Given the description of an element on the screen output the (x, y) to click on. 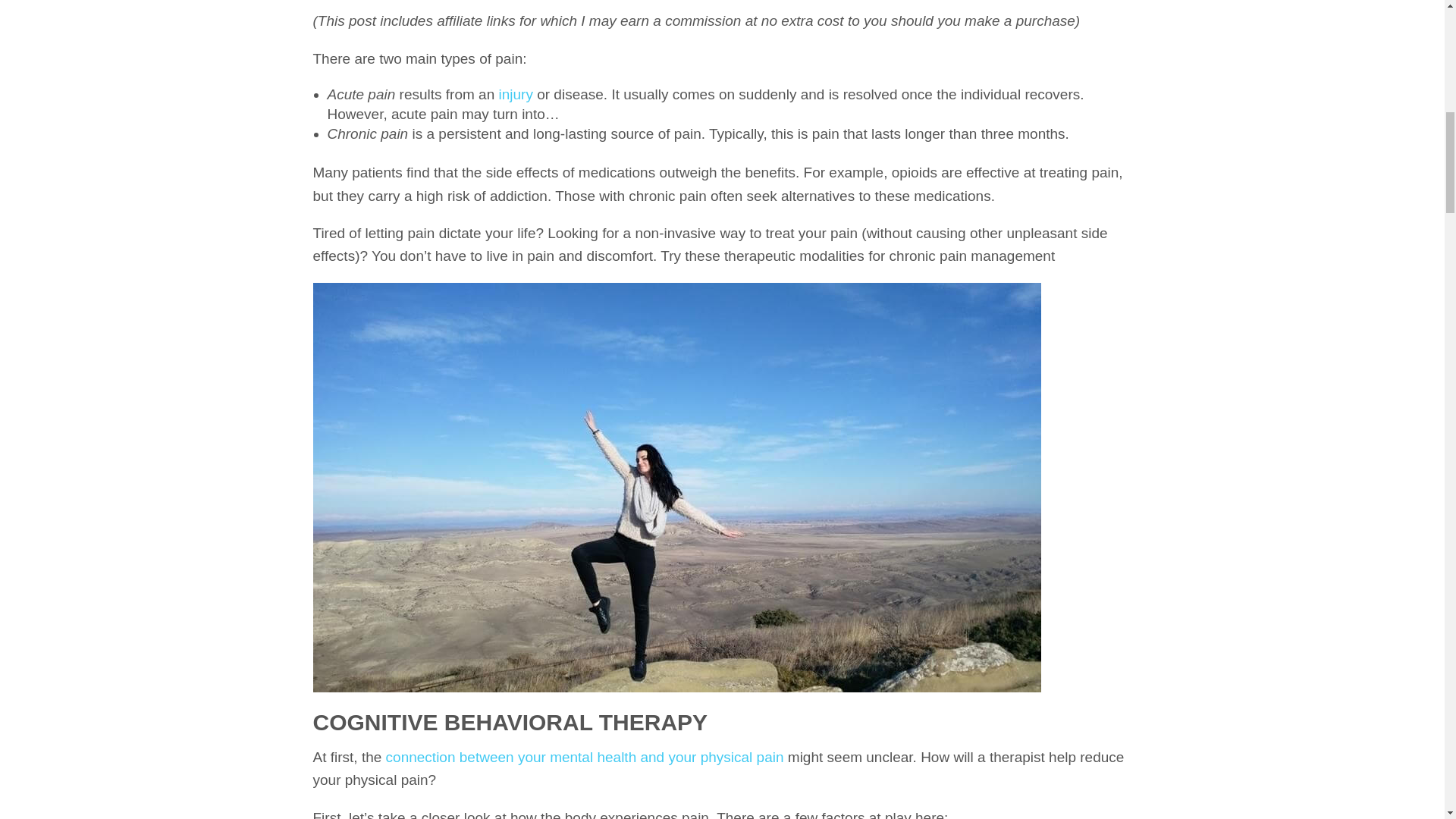
connection between your mental health and your physical pain (584, 756)
injury (515, 94)
